Given the description of an element on the screen output the (x, y) to click on. 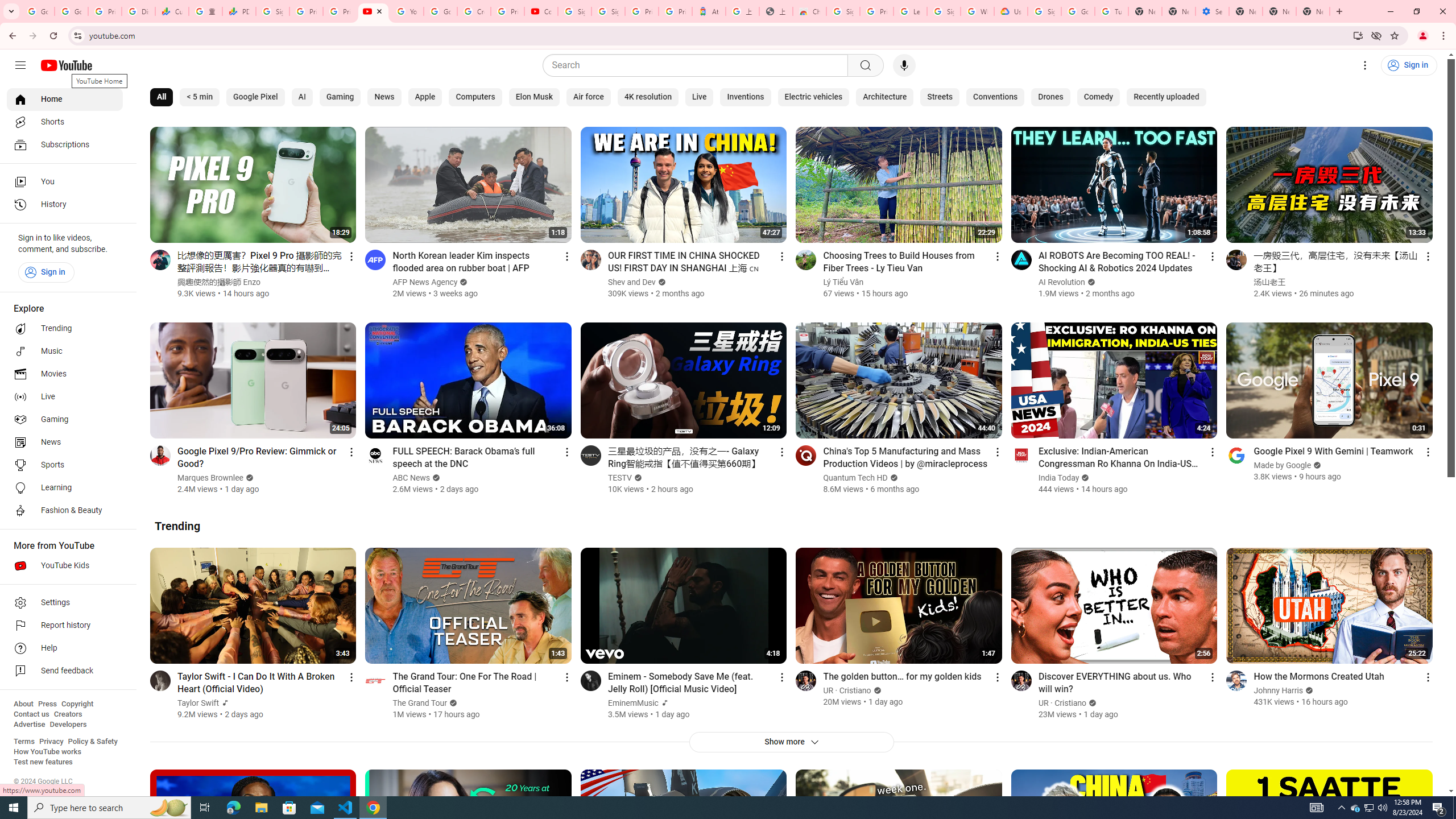
New Tab (1313, 11)
Quantum Tech HD (855, 477)
Create your Google Account (474, 11)
Settings - Addresses and more (1212, 11)
All (161, 97)
Google Workspace Admin Community (37, 11)
Electric vehicles (813, 97)
Who are Google's partners? - Privacy and conditions - Google (976, 11)
TESTV (620, 477)
